Given the description of an element on the screen output the (x, y) to click on. 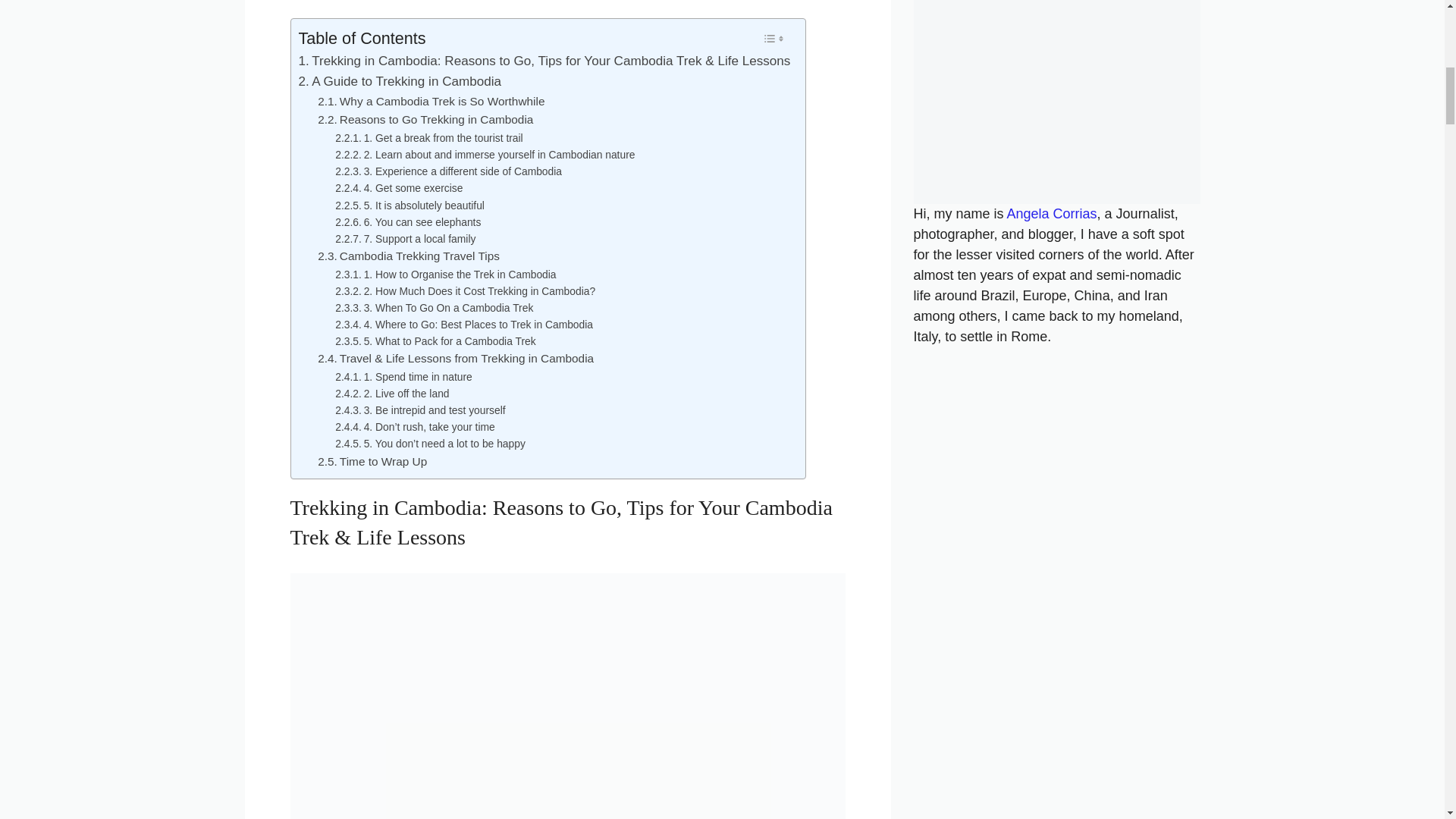
Cambodia Trekking Travel Tips (408, 256)
2. Learn about and immerse yourself in Cambodian nature (484, 154)
3. Experience a different side of Cambodia (448, 170)
7. Support a local family (405, 238)
Reasons to Go Trekking in Cambodia (424, 119)
6. You can see elephants (407, 221)
1. Get a break from the tourist trail (428, 137)
4. Get some exercise (398, 187)
1. Spend time in nature (402, 376)
7. Support a local family (405, 238)
